Given the description of an element on the screen output the (x, y) to click on. 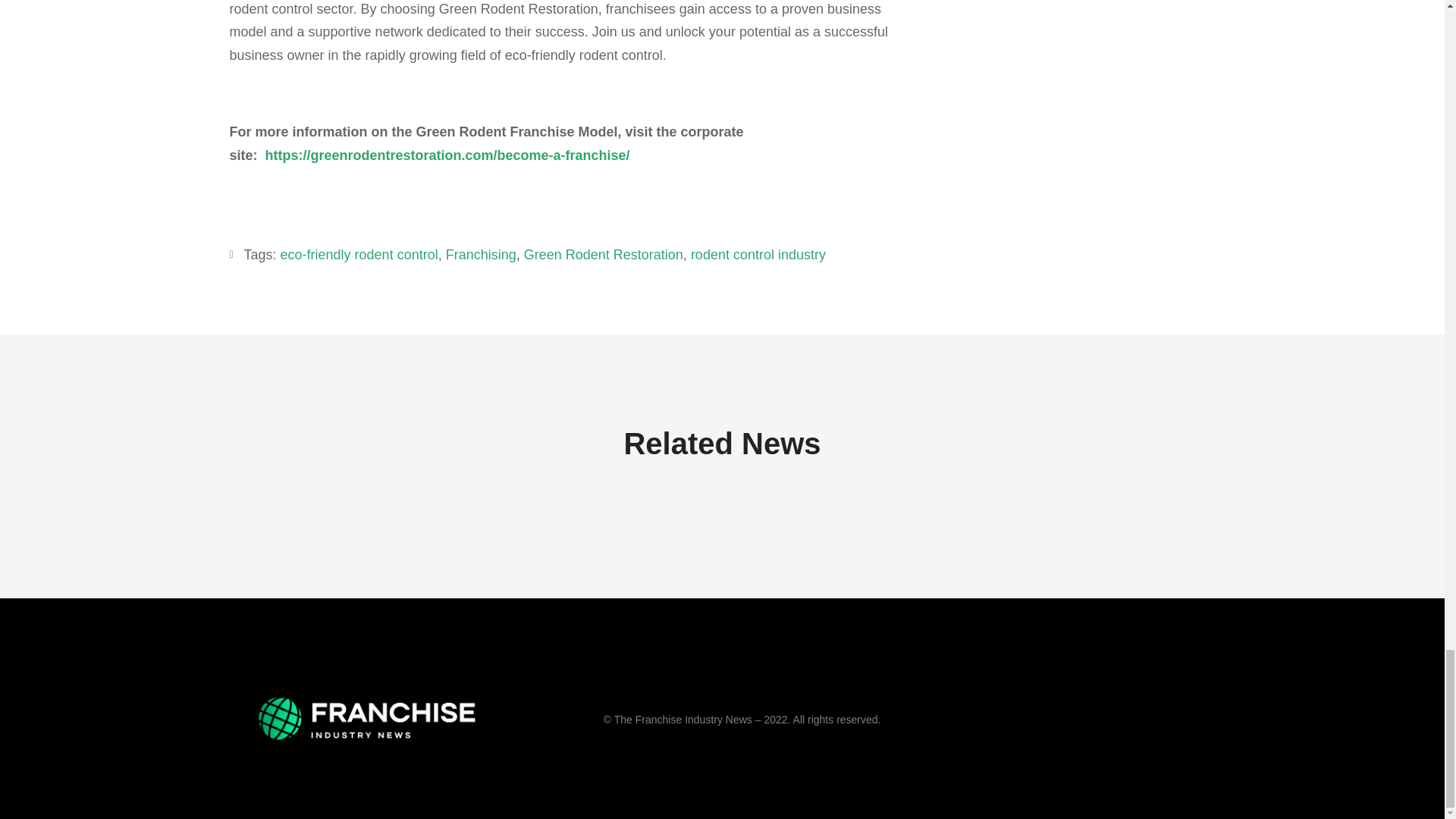
eco-friendly rodent control (359, 254)
Franchising (480, 254)
Green Rodent Restoration (603, 254)
rodent control industry (757, 254)
